Given the description of an element on the screen output the (x, y) to click on. 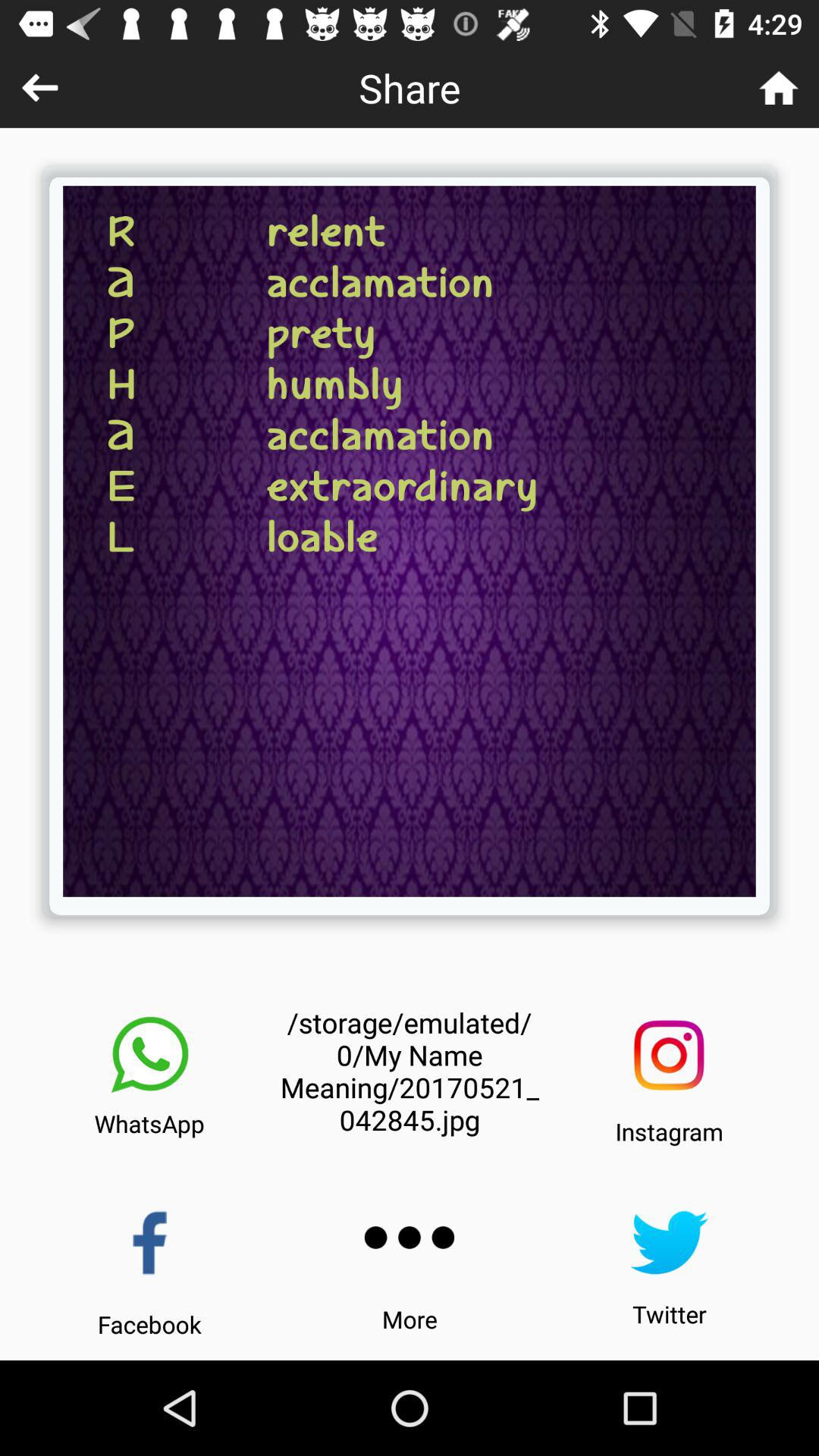
launch the icon above the whatsapp item (149, 1055)
